Given the description of an element on the screen output the (x, y) to click on. 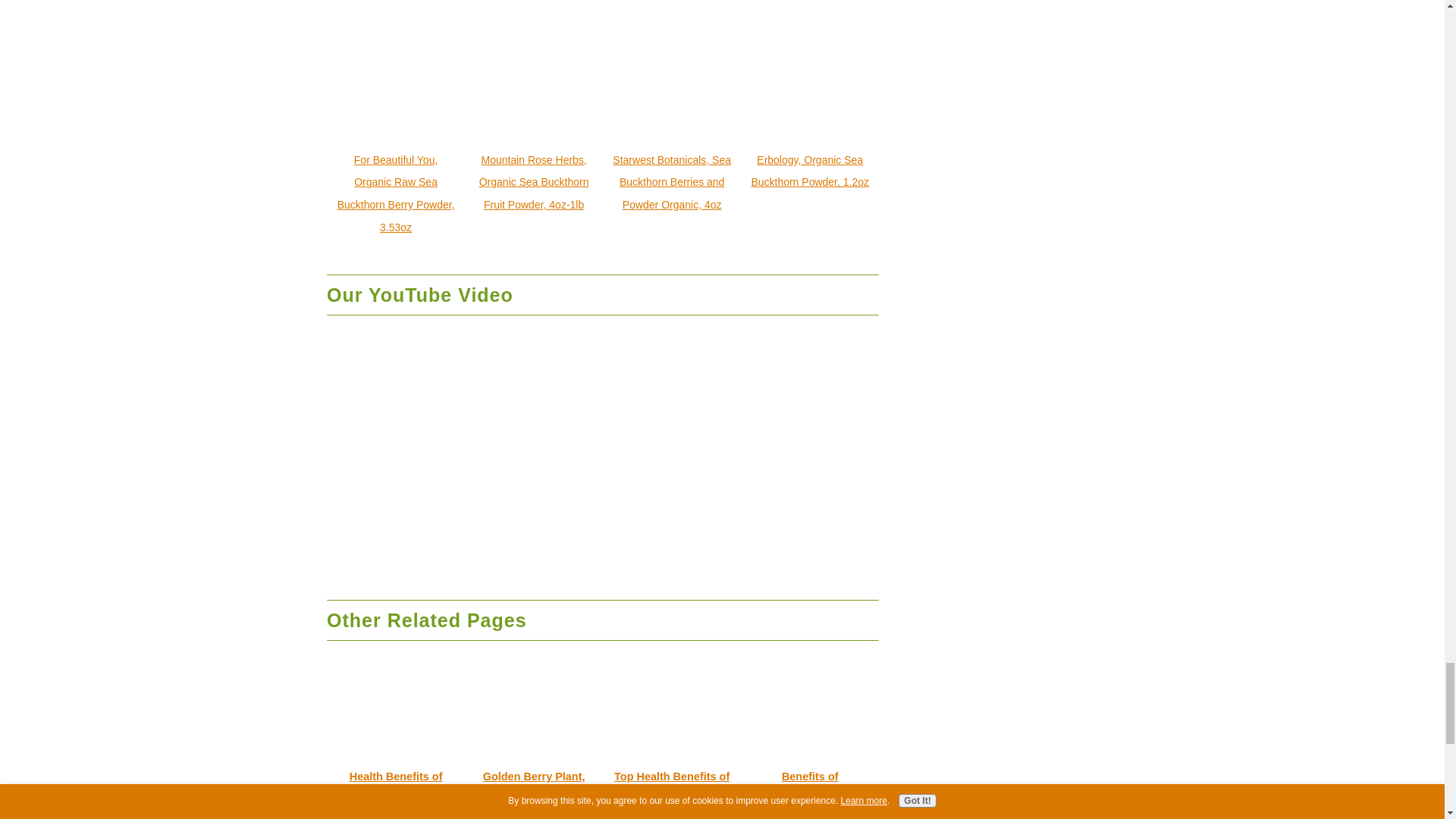
sea-buckthorn-fruit-powder-mrh (534, 78)
sea-buckthorn-powder-erbology (809, 78)
sea-buckthorn-powder-starwest (672, 78)
sea-buckthorn-powder-for-beautiful (395, 78)
